Given the description of an element on the screen output the (x, y) to click on. 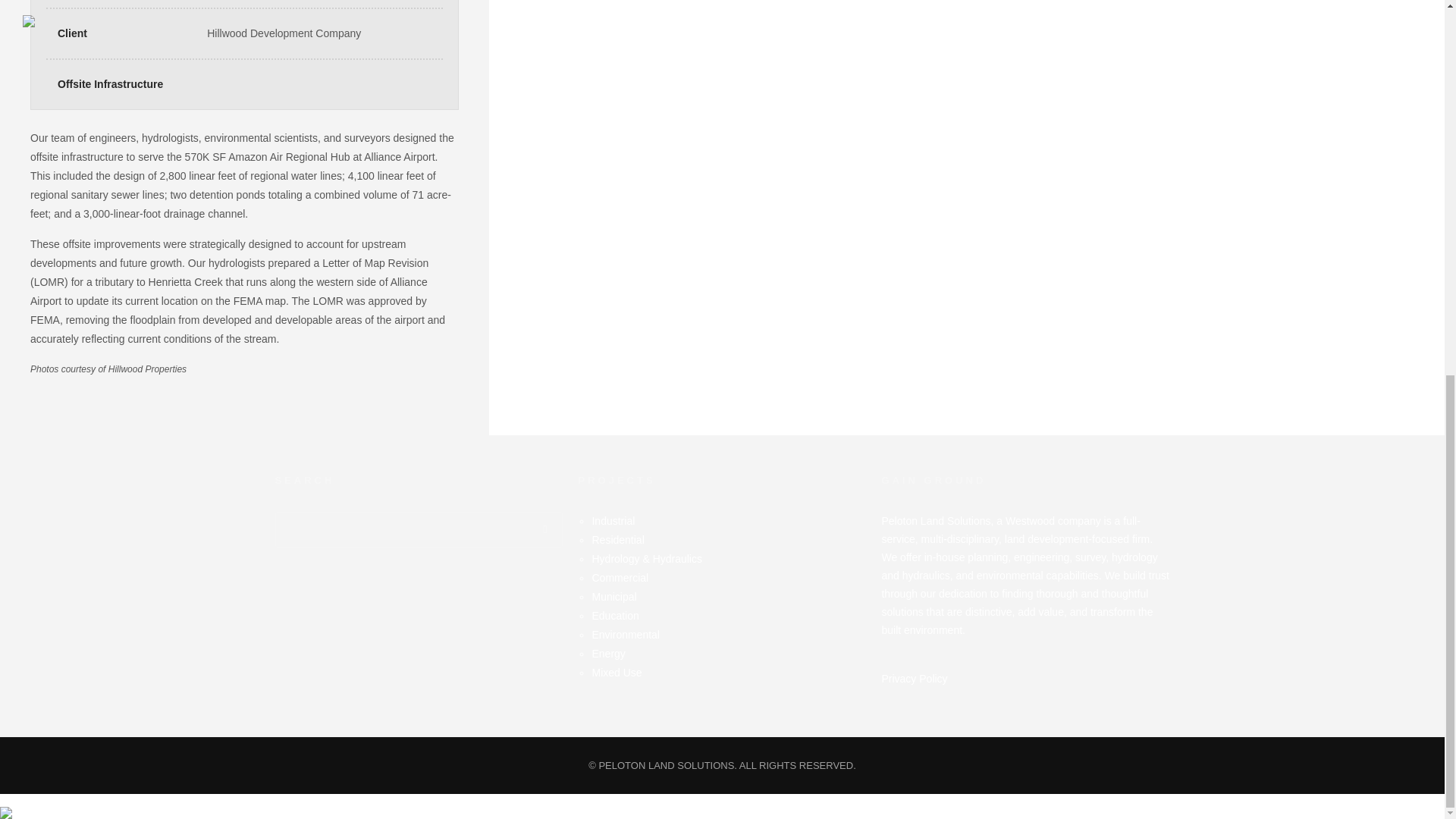
Mobile logo (5, 802)
Search (544, 529)
